Given the description of an element on the screen output the (x, y) to click on. 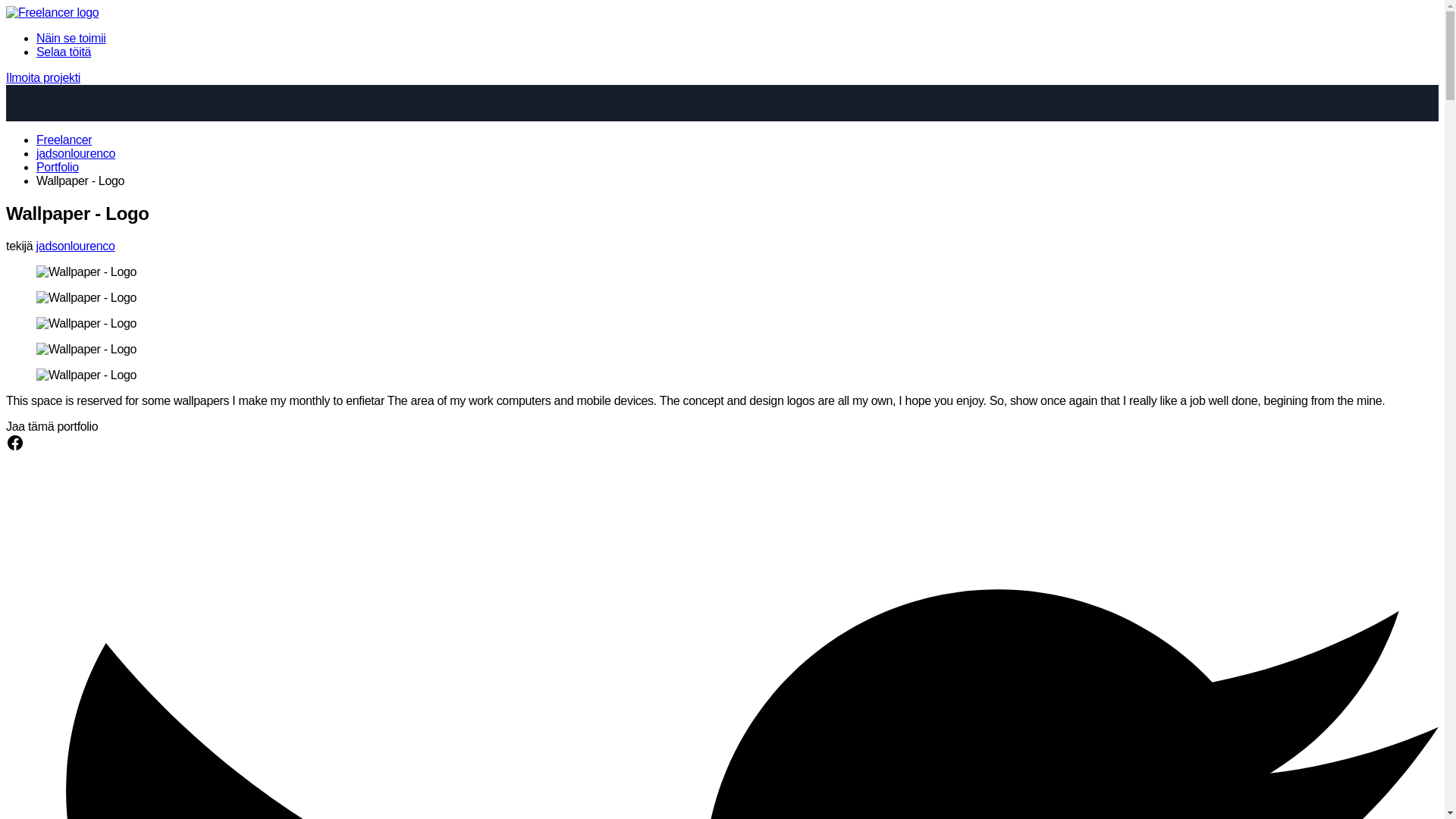
jadsonlourenco (75, 245)
Ilmoita projekti (42, 77)
Freelancer (63, 139)
Jaa Facebookissa (14, 447)
jadsonlourenco (75, 153)
Portfolio (57, 166)
